Given the description of an element on the screen output the (x, y) to click on. 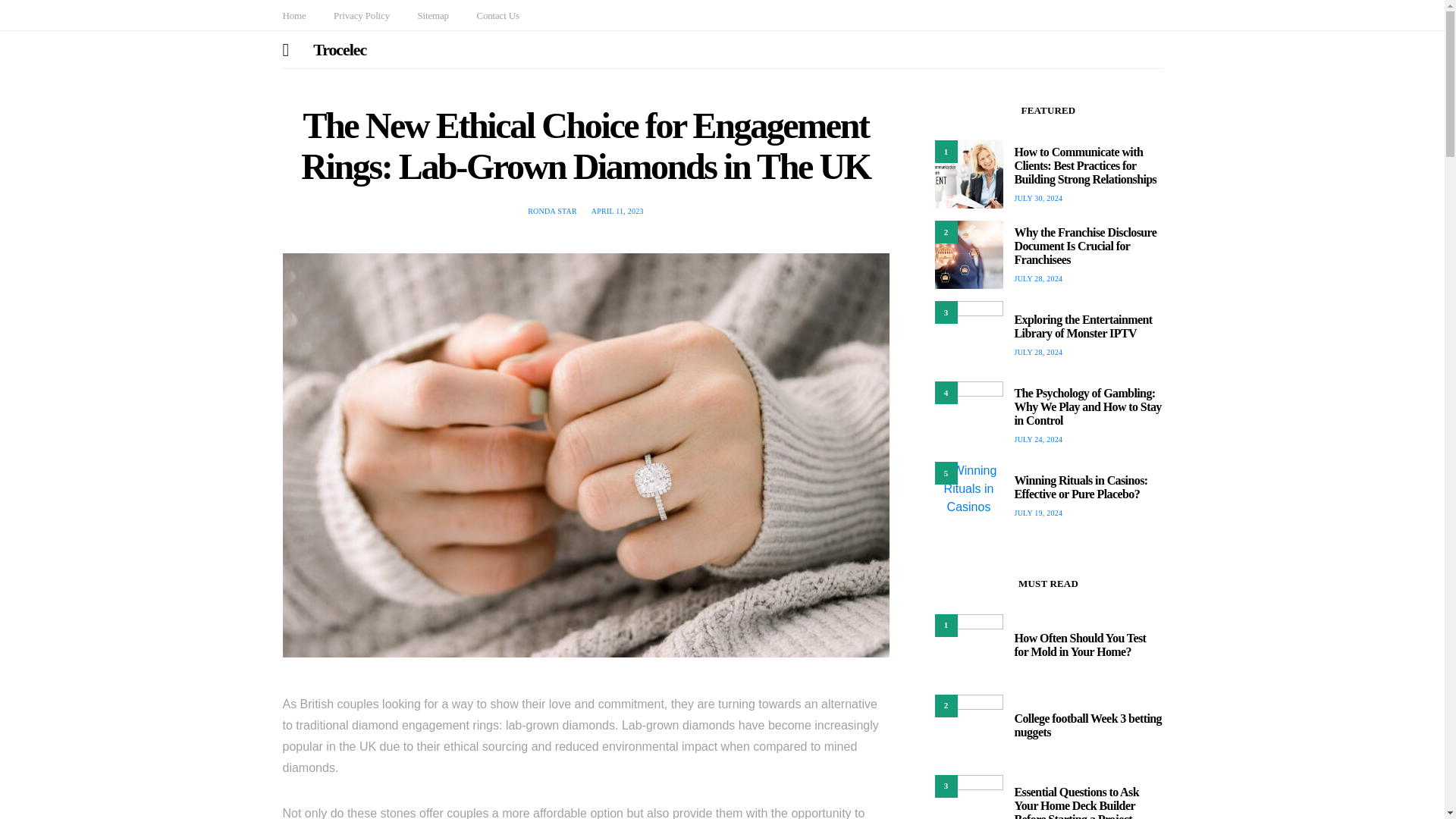
APRIL 11, 2023 (617, 211)
JULY 28, 2024 (1038, 278)
RONDA STAR (551, 211)
Sitemap (432, 15)
Contact Us (497, 15)
2 (968, 255)
Privacy Policy (361, 15)
JULY 30, 2024 (1038, 198)
Trocelec (339, 49)
3 (968, 336)
Home (293, 15)
View all posts by Ronda Star (551, 211)
1 (968, 174)
